Given the description of an element on the screen output the (x, y) to click on. 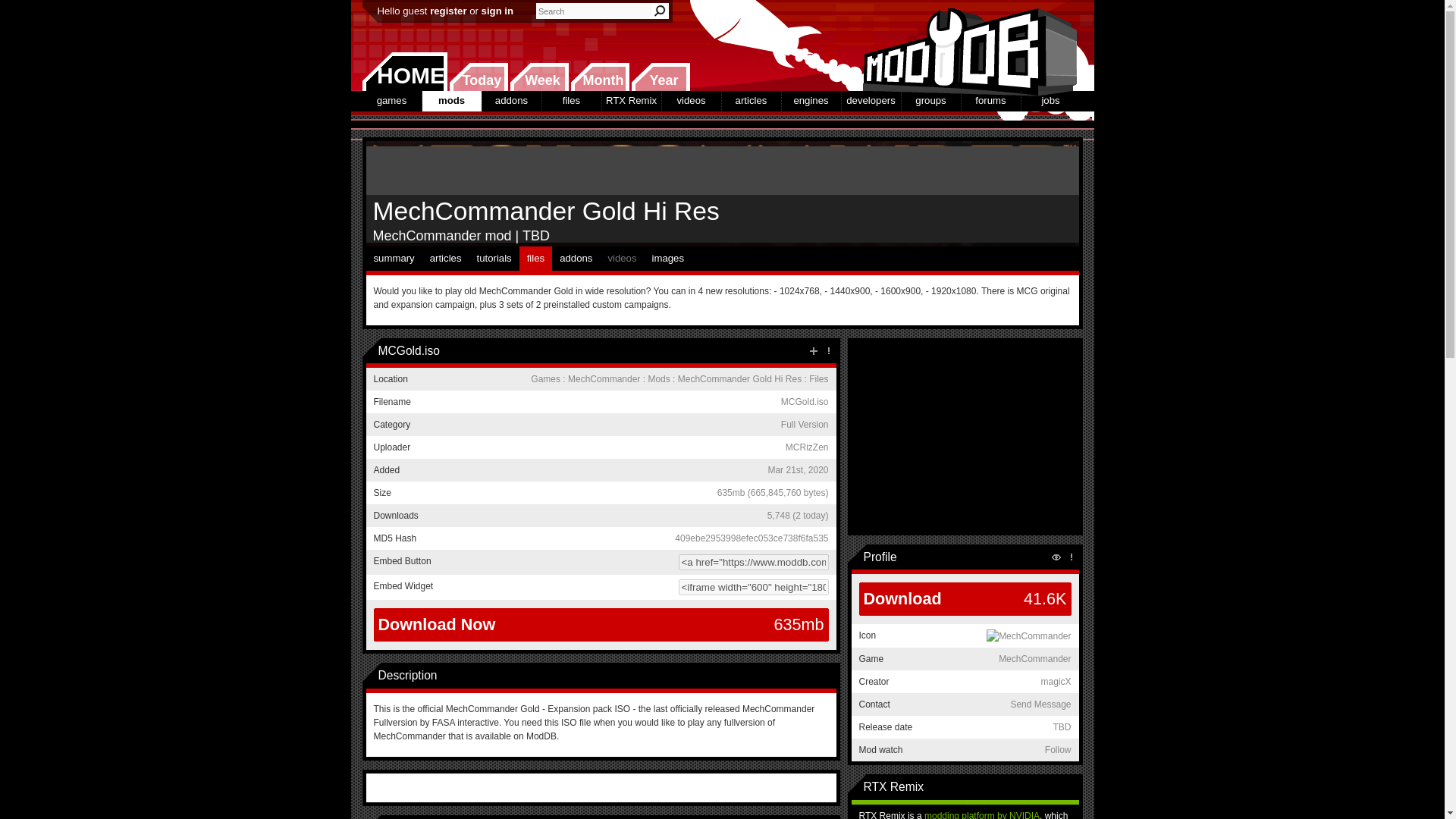
addons (511, 100)
Embed the file using this HTML (600, 586)
HOME (405, 71)
RTX Remix (631, 100)
Report (828, 350)
videos (690, 100)
files (570, 100)
New this year (660, 76)
Year (660, 76)
Month (599, 76)
ModDB Home (965, 45)
New this month (599, 76)
Week (539, 76)
Search (660, 10)
